Given the description of an element on the screen output the (x, y) to click on. 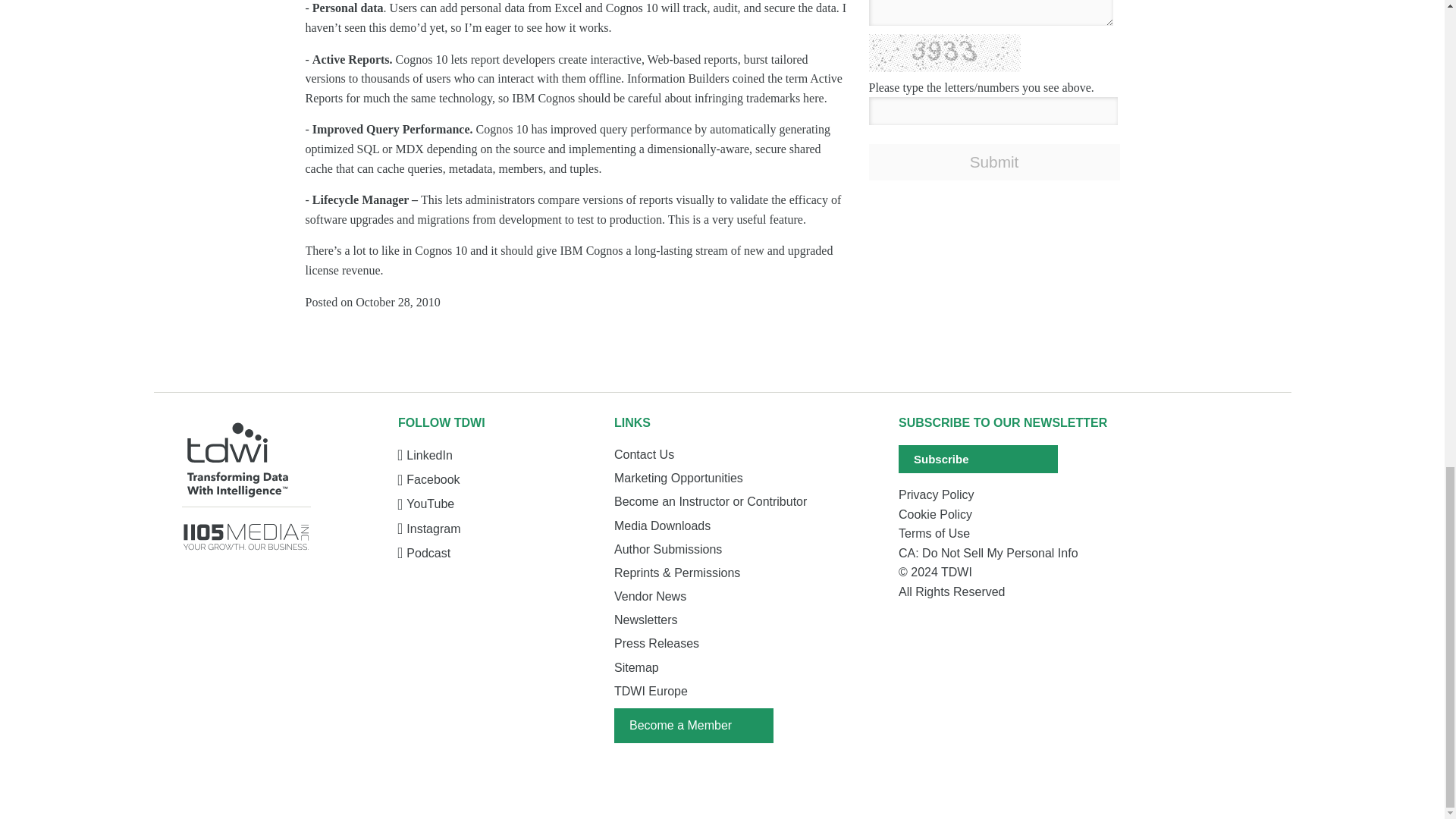
Cookie Policy (1011, 514)
Submit (994, 162)
Terms of Use (1011, 533)
Privacy Policy (1011, 495)
